Given the description of an element on the screen output the (x, y) to click on. 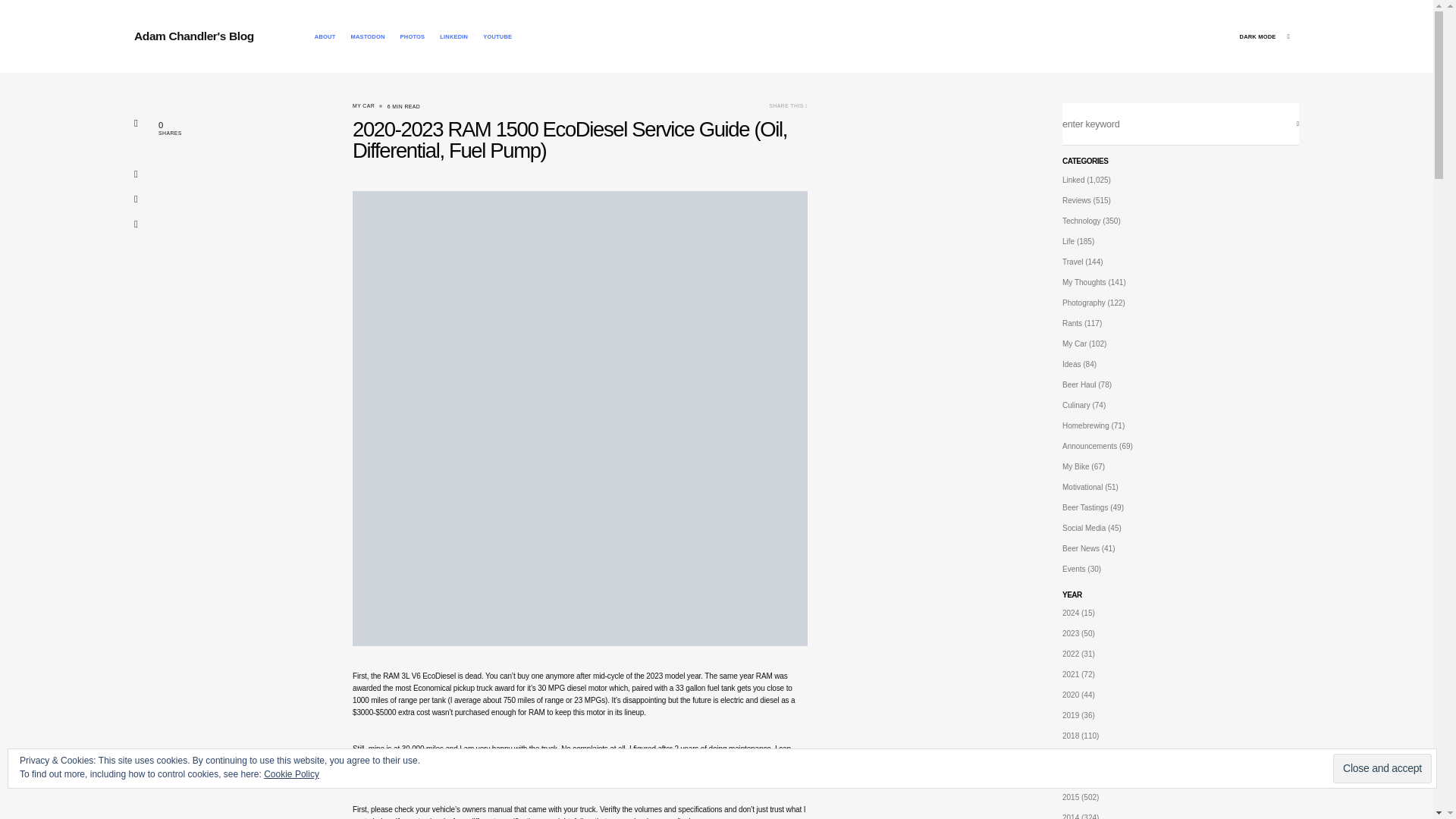
Close and accept (1382, 767)
Adam Chandler's Blog (193, 36)
